Given the description of an element on the screen output the (x, y) to click on. 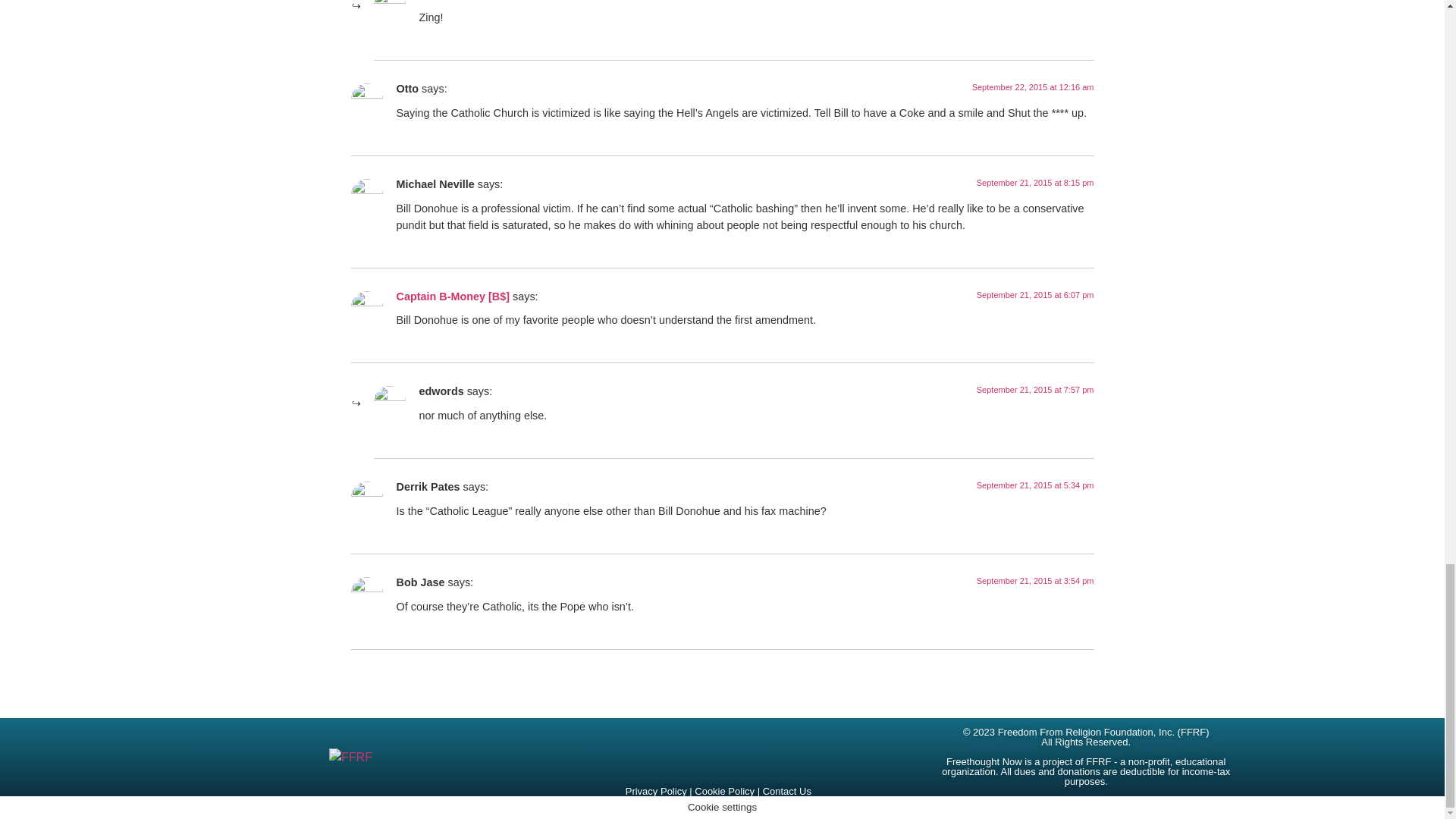
ffrf-logo-reverse-raster (350, 757)
